Given the description of an element on the screen output the (x, y) to click on. 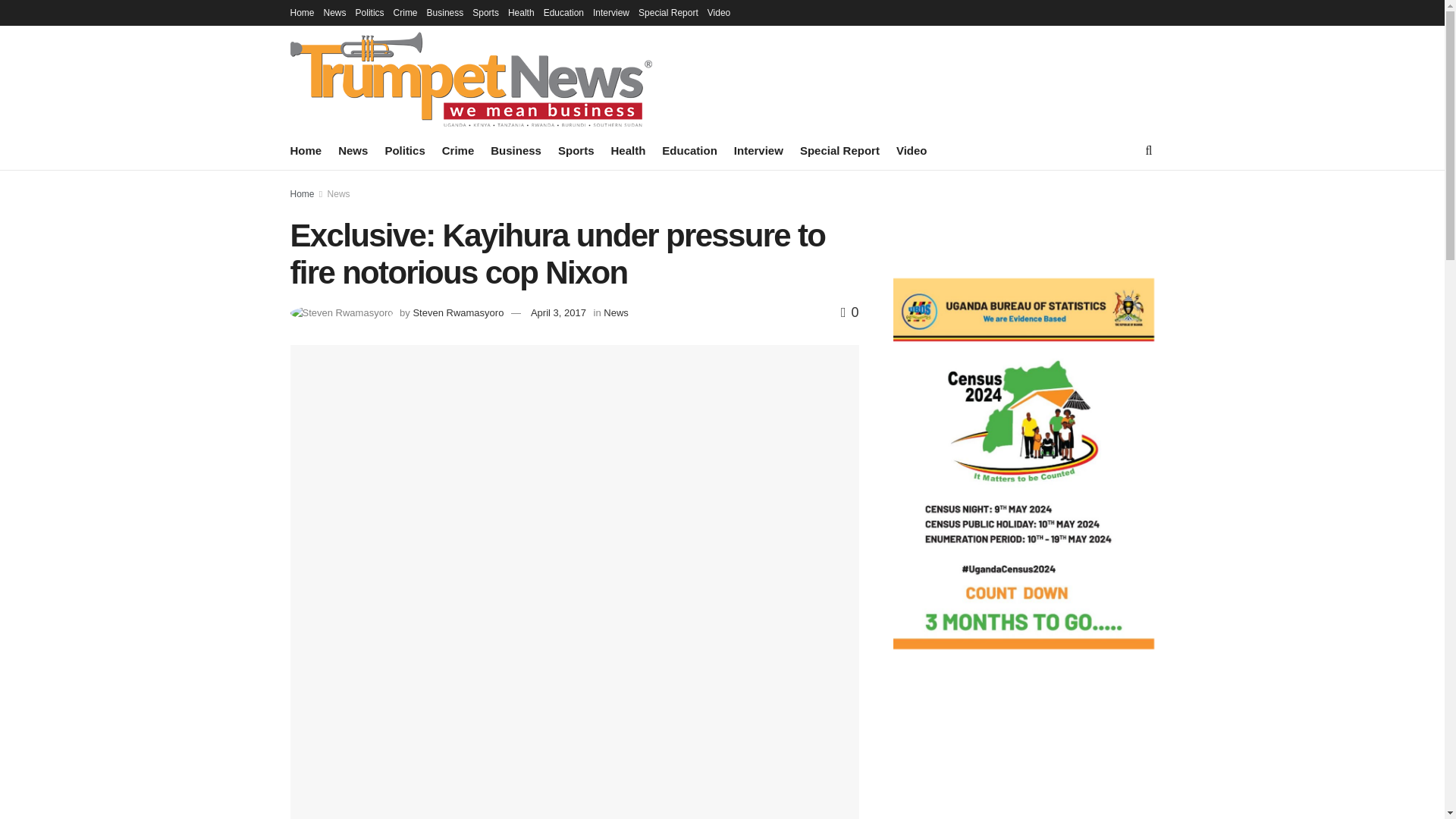
Business (445, 12)
Politics (404, 150)
Special Report (668, 12)
Sports (575, 150)
Interview (758, 150)
Education (563, 12)
Interview (610, 12)
Special Report (839, 150)
Home (305, 150)
Health (521, 12)
